Given the description of an element on the screen output the (x, y) to click on. 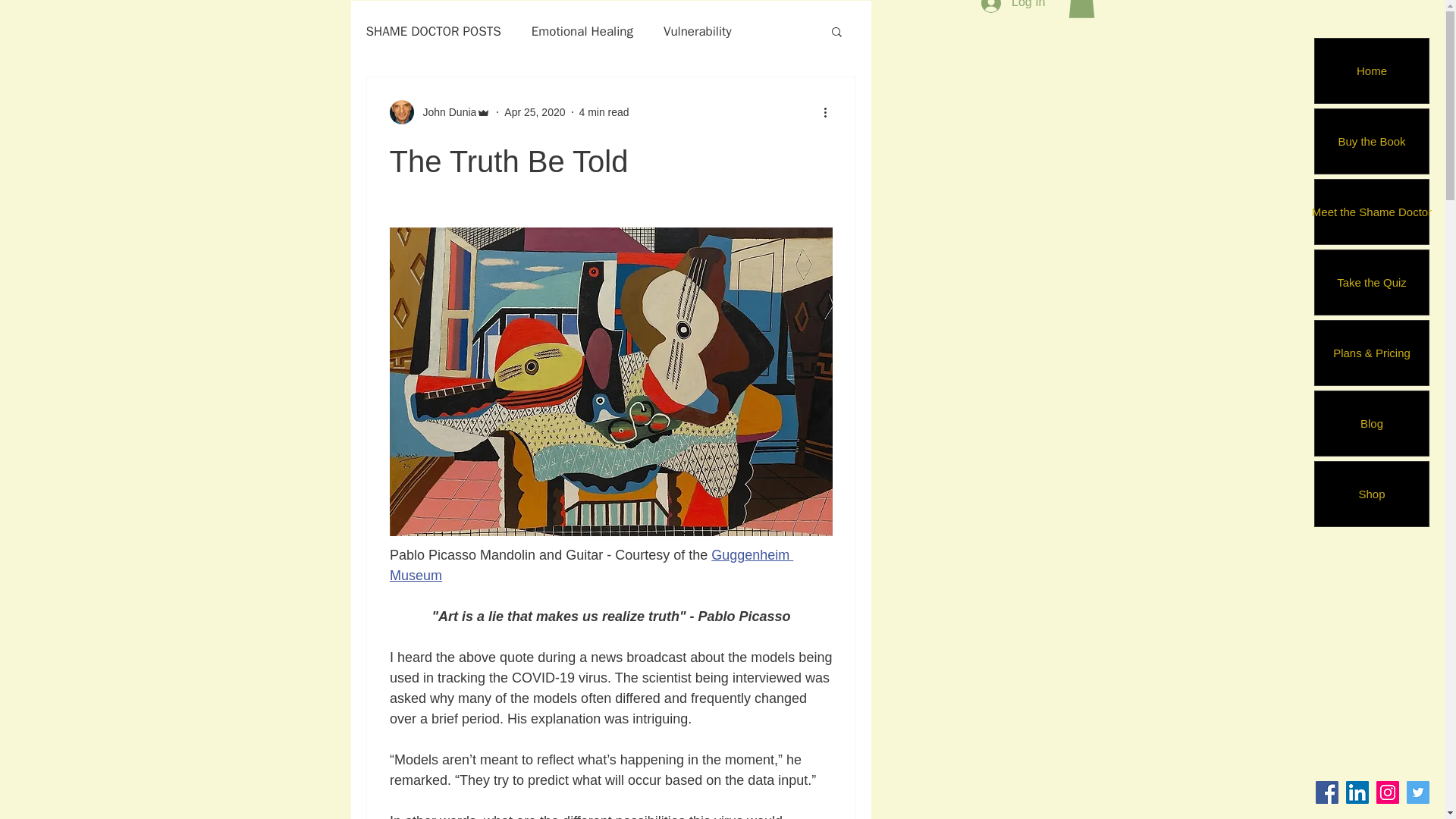
Shop (1371, 493)
Buy the Book (1371, 140)
John Dunia (445, 112)
4 min read (603, 111)
Meet the Shame Doctor (1371, 211)
Apr 25, 2020 (533, 111)
SHAME DOCTOR POSTS (432, 31)
Vulnerability (697, 31)
John Dunia (441, 111)
Log In (1013, 8)
Home (1371, 70)
Emotional Healing (582, 31)
Take the Quiz (1371, 282)
Blog (1371, 423)
Guggenheim Museum (591, 565)
